Given the description of an element on the screen output the (x, y) to click on. 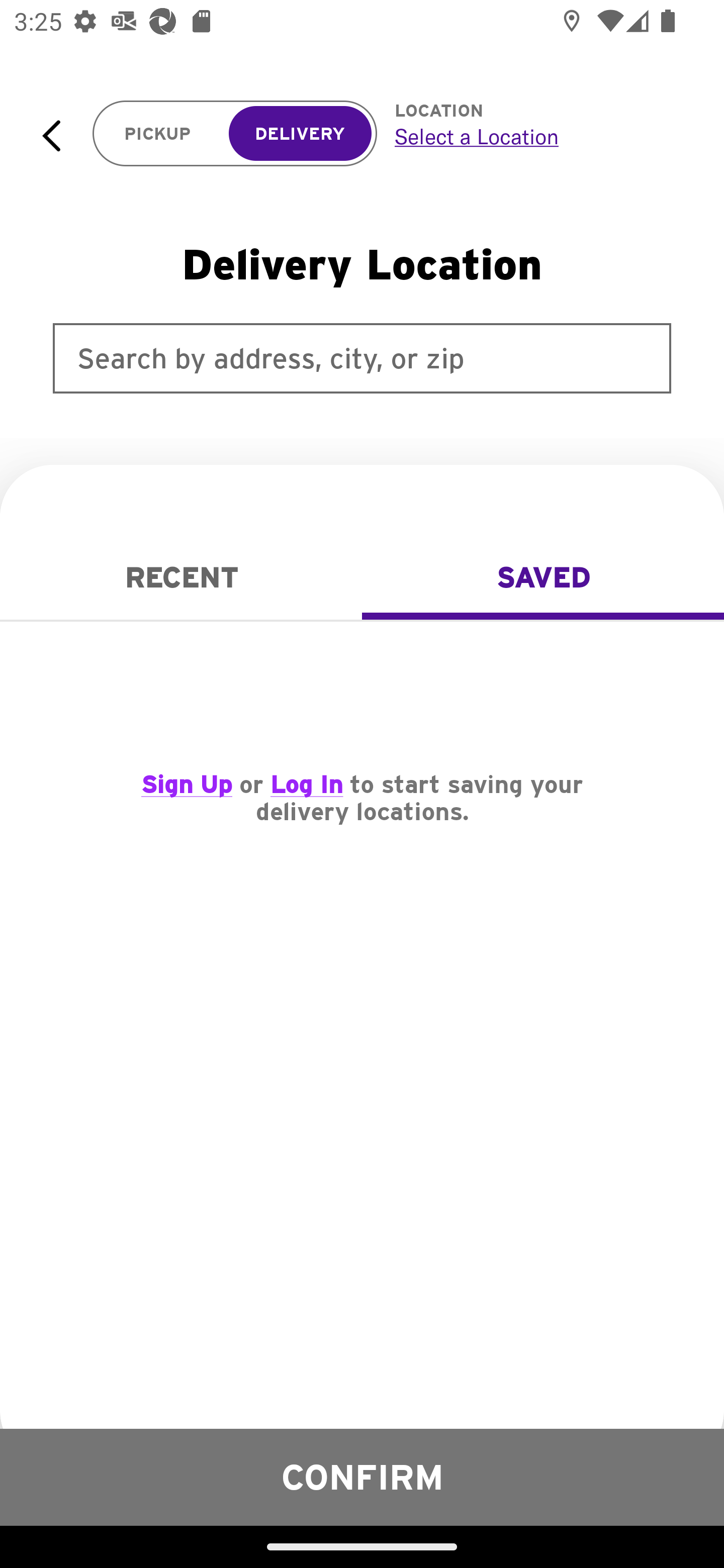
PICKUP (157, 133)
DELIVERY (299, 133)
Select a Location (536, 136)
Search by address, city, or zip (361, 358)
Recent RECENT (181, 576)
CONFIRM (362, 1476)
